Given the description of an element on the screen output the (x, y) to click on. 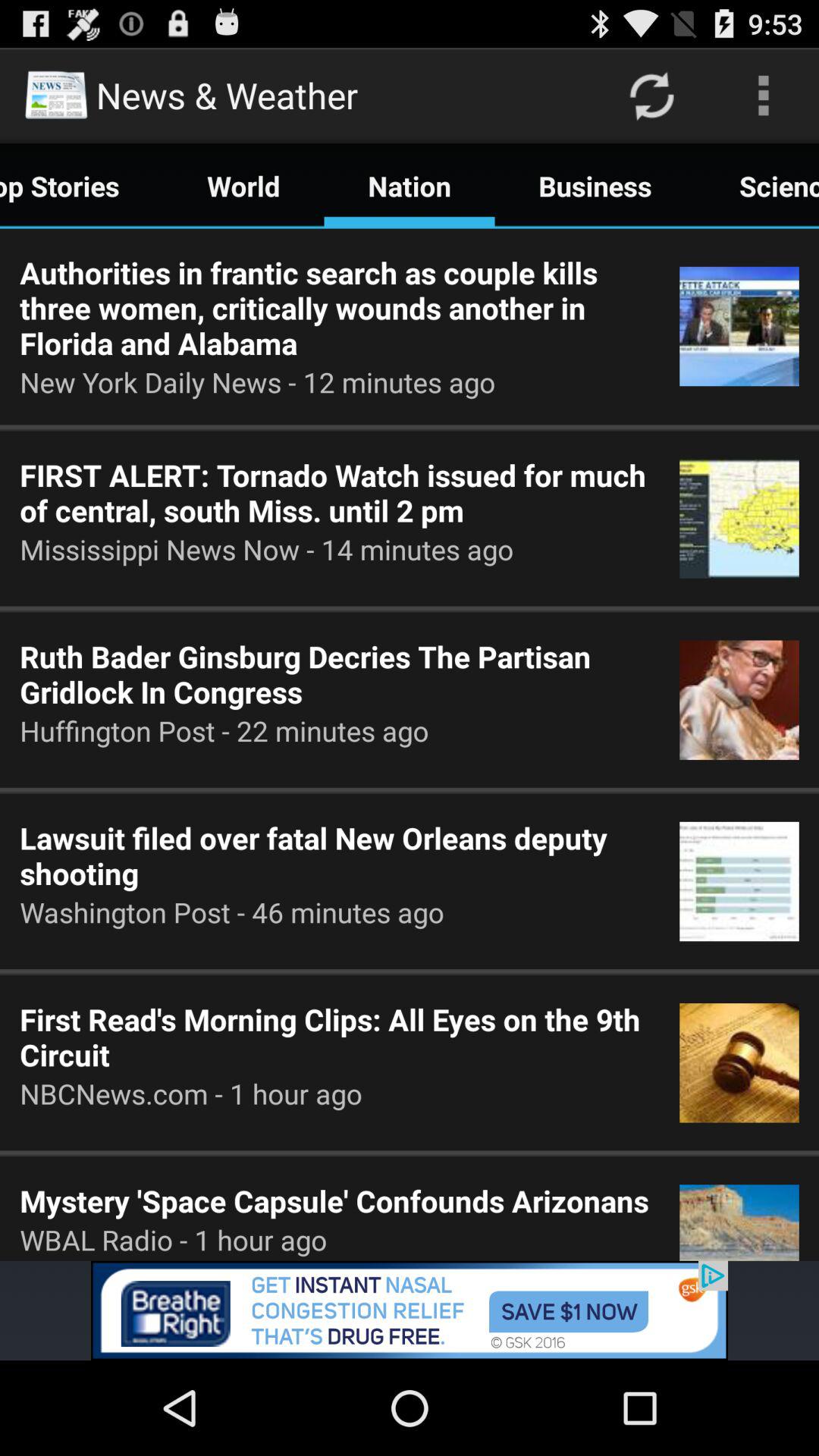
alerta para o anuncio (409, 1310)
